Given the description of an element on the screen output the (x, y) to click on. 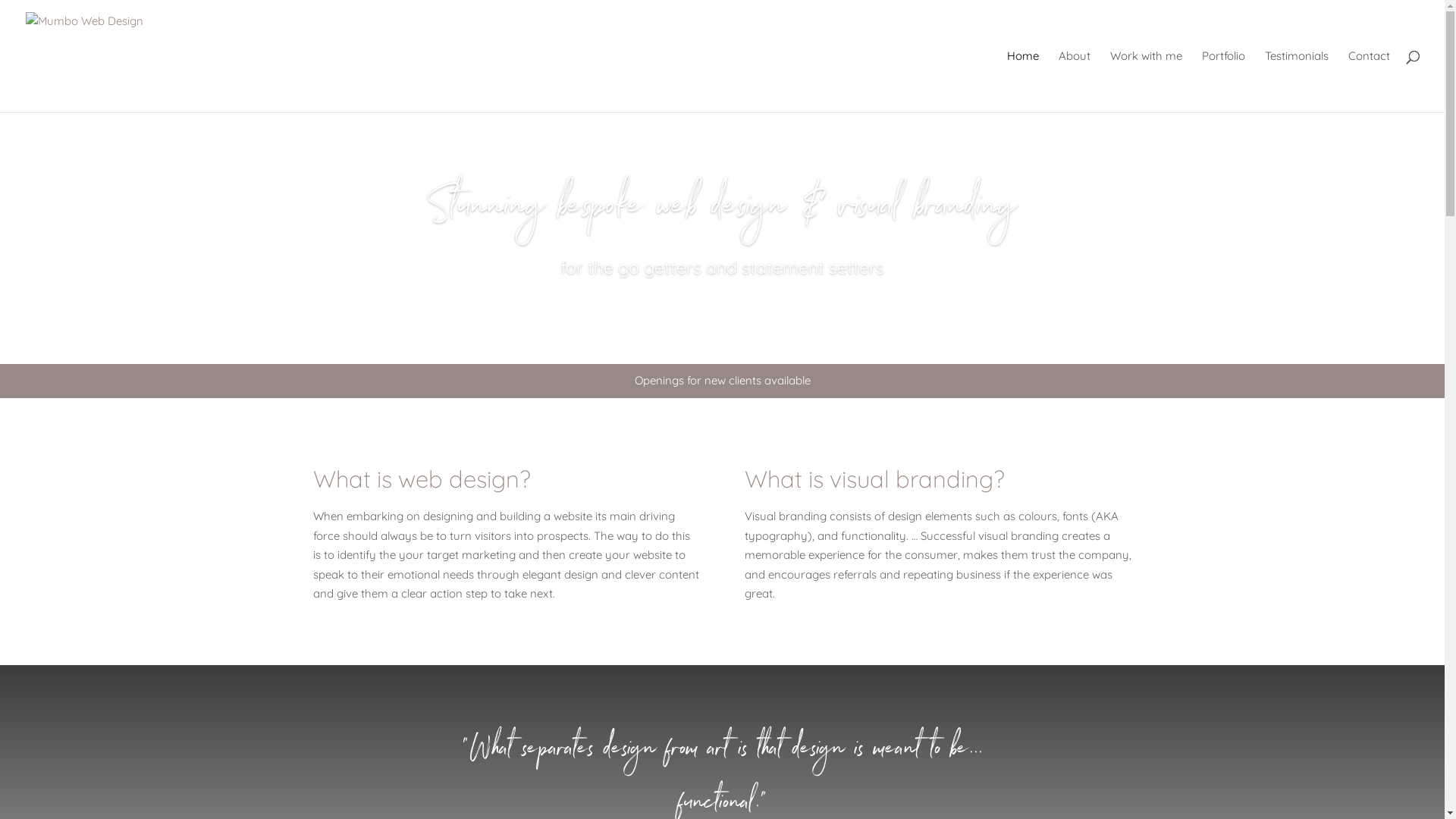
Contact Element type: text (1369, 81)
Work with me Element type: text (1146, 81)
About Element type: text (1074, 81)
Portfolio Element type: text (1223, 81)
Testimonials Element type: text (1296, 81)
Home Element type: text (1022, 81)
